Given the description of an element on the screen output the (x, y) to click on. 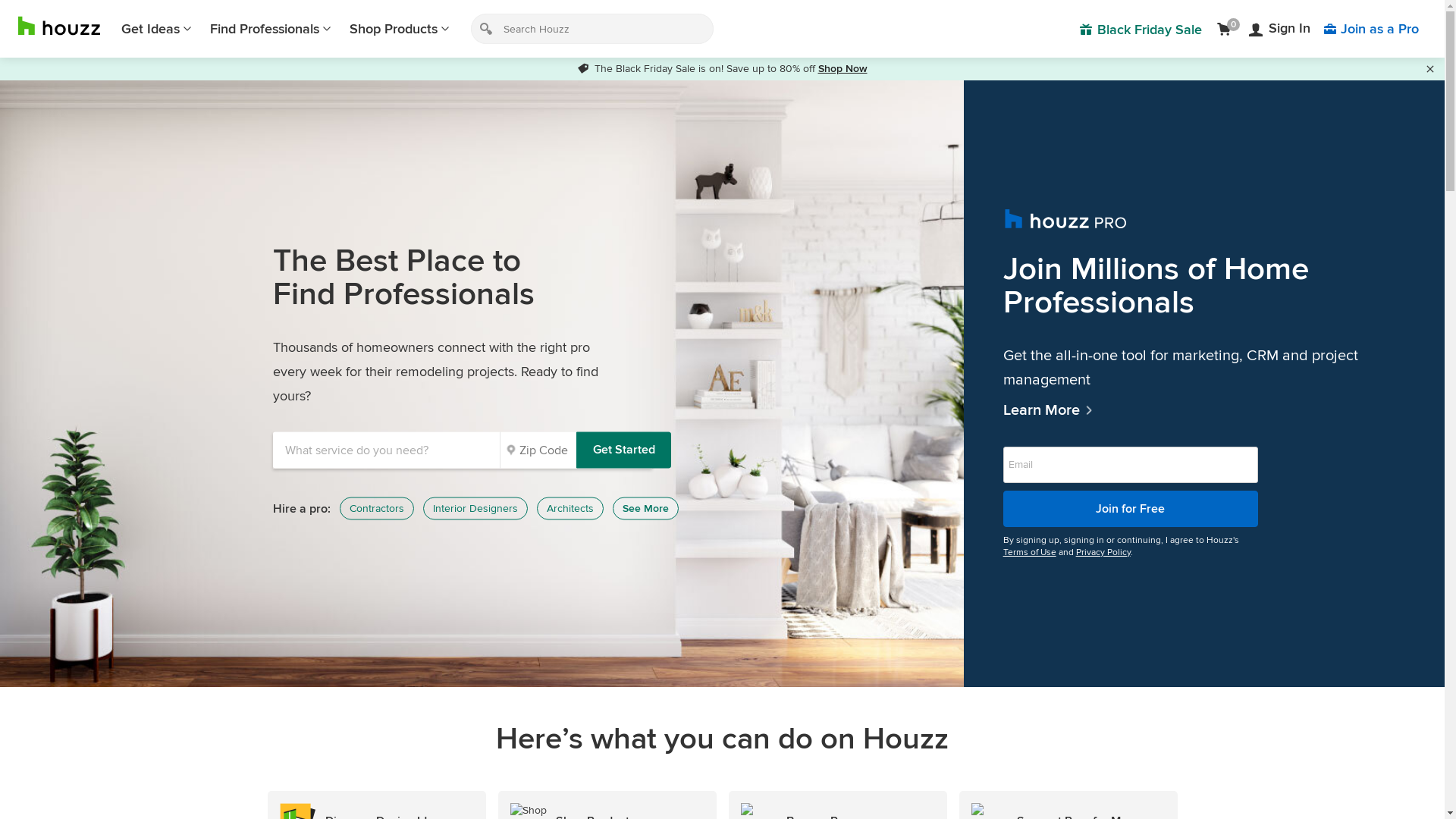
Architects Element type: text (569, 508)
Join for Free Element type: text (1130, 507)
Shop Now Element type: text (841, 68)
Sign In Element type: text (1279, 28)
Privacy Policy Element type: text (1103, 551)
See More Element type: text (645, 508)
Shop Products Element type: text (399, 28)
Contractors Element type: text (376, 508)
The Black Friday Sale is on! Save up to 80% off  Element type: text (697, 68)
Join as a Pro Element type: text (1371, 27)
Terms of Use Element type: text (1029, 551)
Interior Designers Element type: text (475, 508)
Black Friday Sale Element type: text (1140, 28)
0 Element type: text (1226, 28)
Get Ideas Element type: text (156, 28)
Get Started Element type: text (623, 450)
Learn More Element type: text (1204, 409)
Find Professionals Element type: text (270, 28)
